Given the description of an element on the screen output the (x, y) to click on. 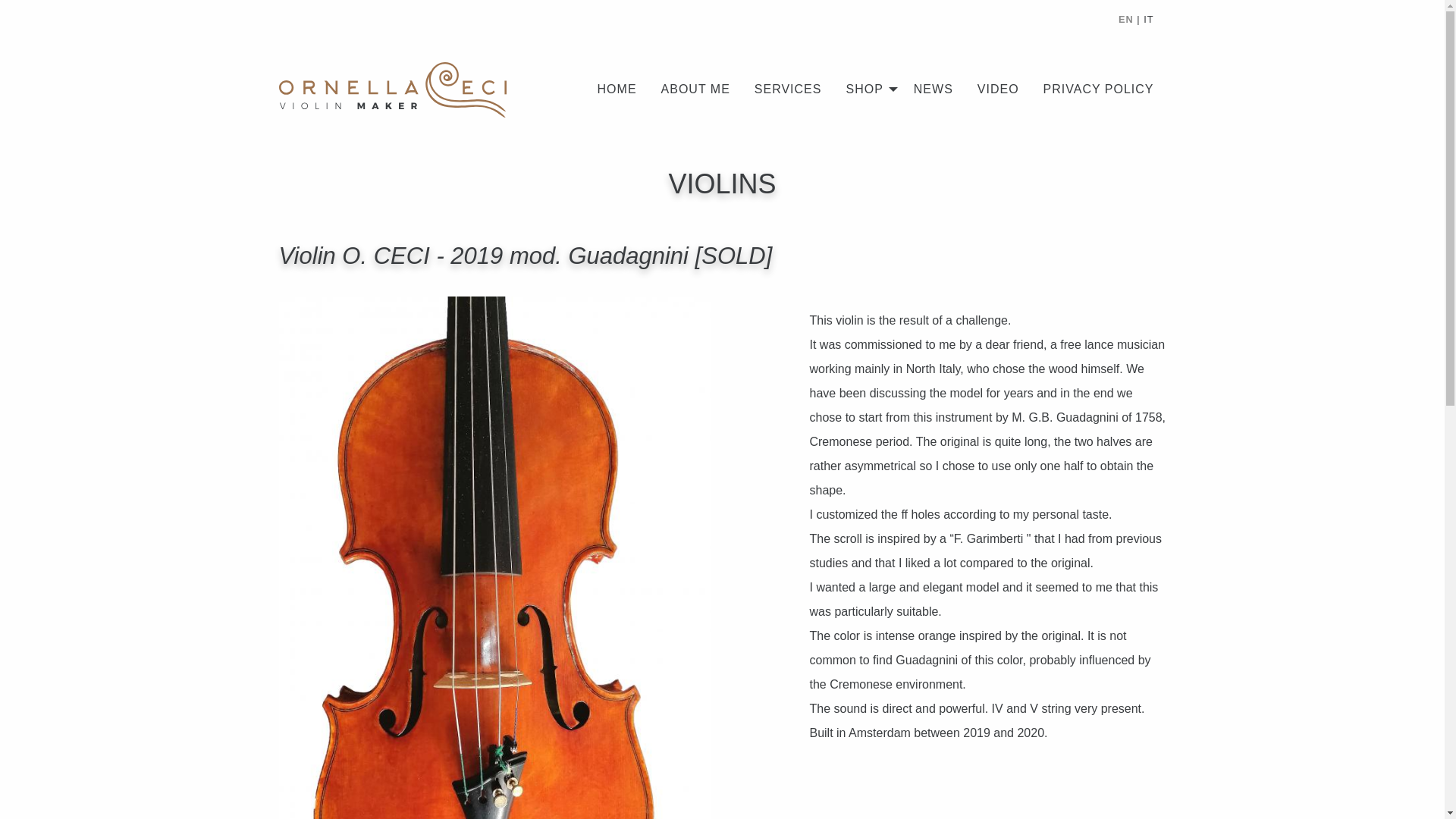
SHOP (866, 89)
HOME (617, 89)
SERVICES (788, 89)
EN (1126, 19)
ABOUT ME (695, 89)
NEWS (933, 89)
PRIVACY POLICY (1098, 89)
VIDEO (997, 89)
